Given the description of an element on the screen output the (x, y) to click on. 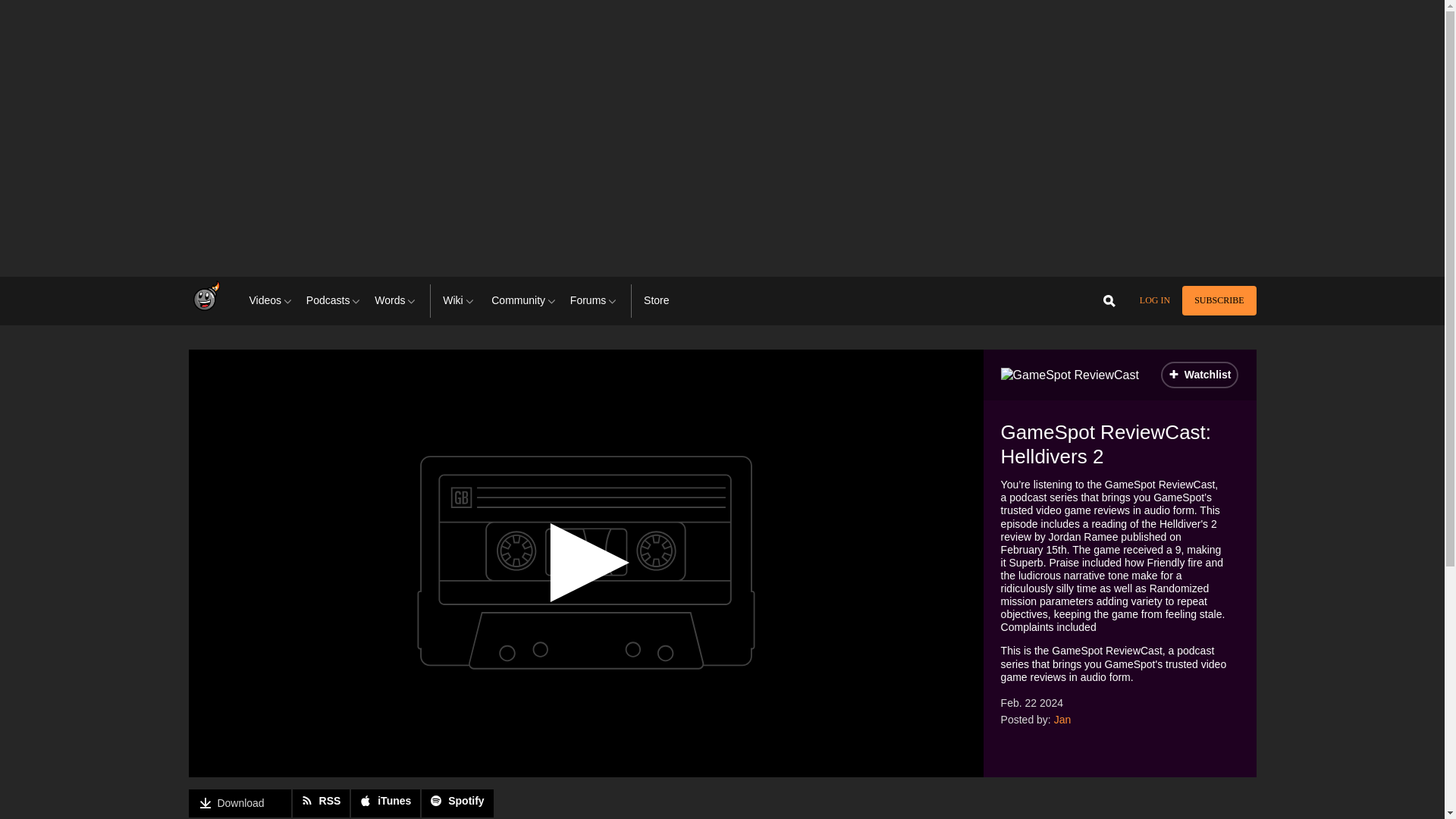
Add to Watchlist (1199, 374)
Videos (271, 300)
Podcasts (333, 300)
Words (395, 300)
